Given the description of an element on the screen output the (x, y) to click on. 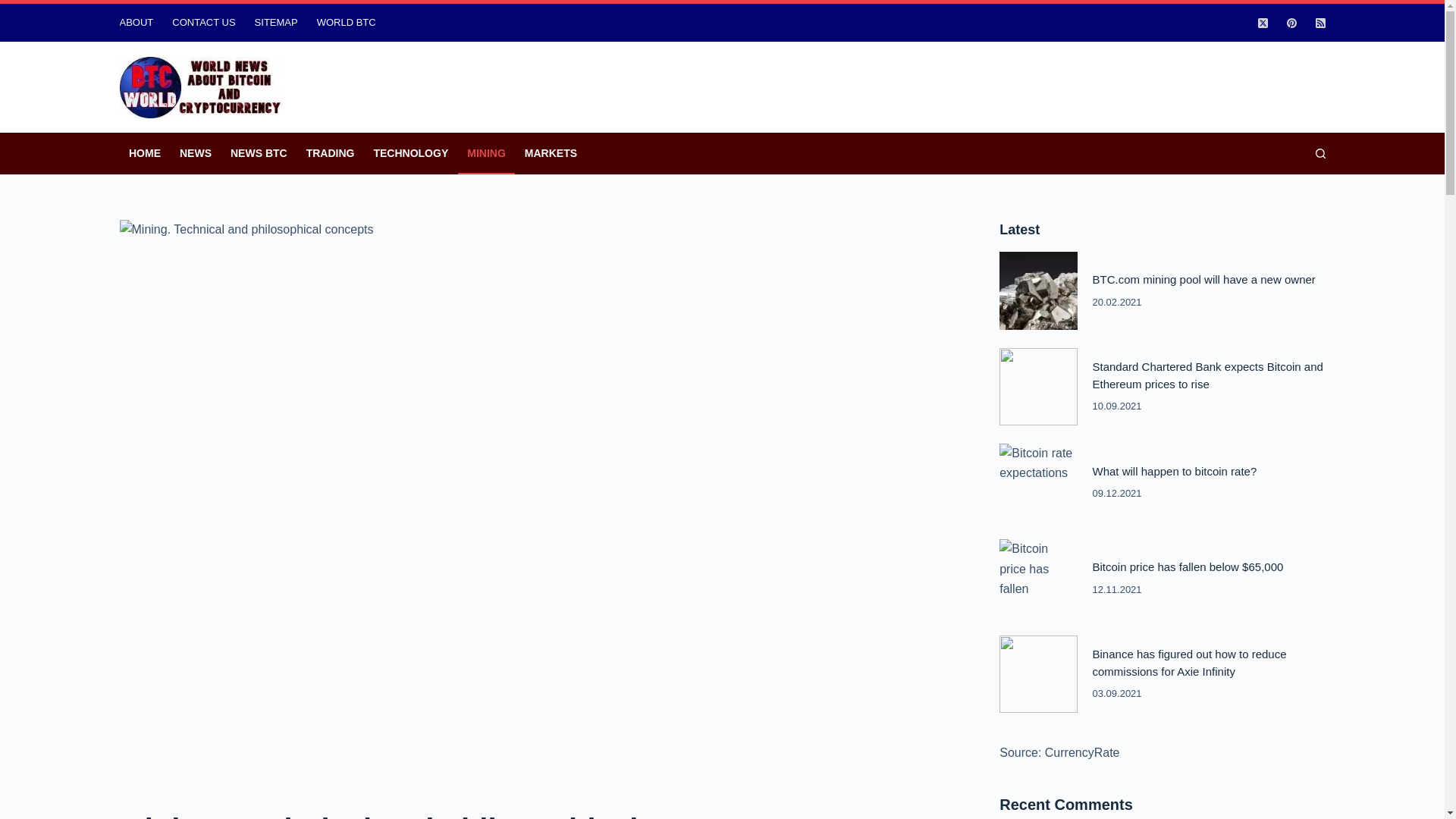
TECHNOLOGY (411, 153)
NEWS (195, 153)
CONTACT US (203, 22)
MARKETS (550, 153)
MINING (486, 153)
Skip to content (15, 7)
TRADING (330, 153)
NEWS BTC (259, 153)
SITEMAP (275, 22)
